Given the description of an element on the screen output the (x, y) to click on. 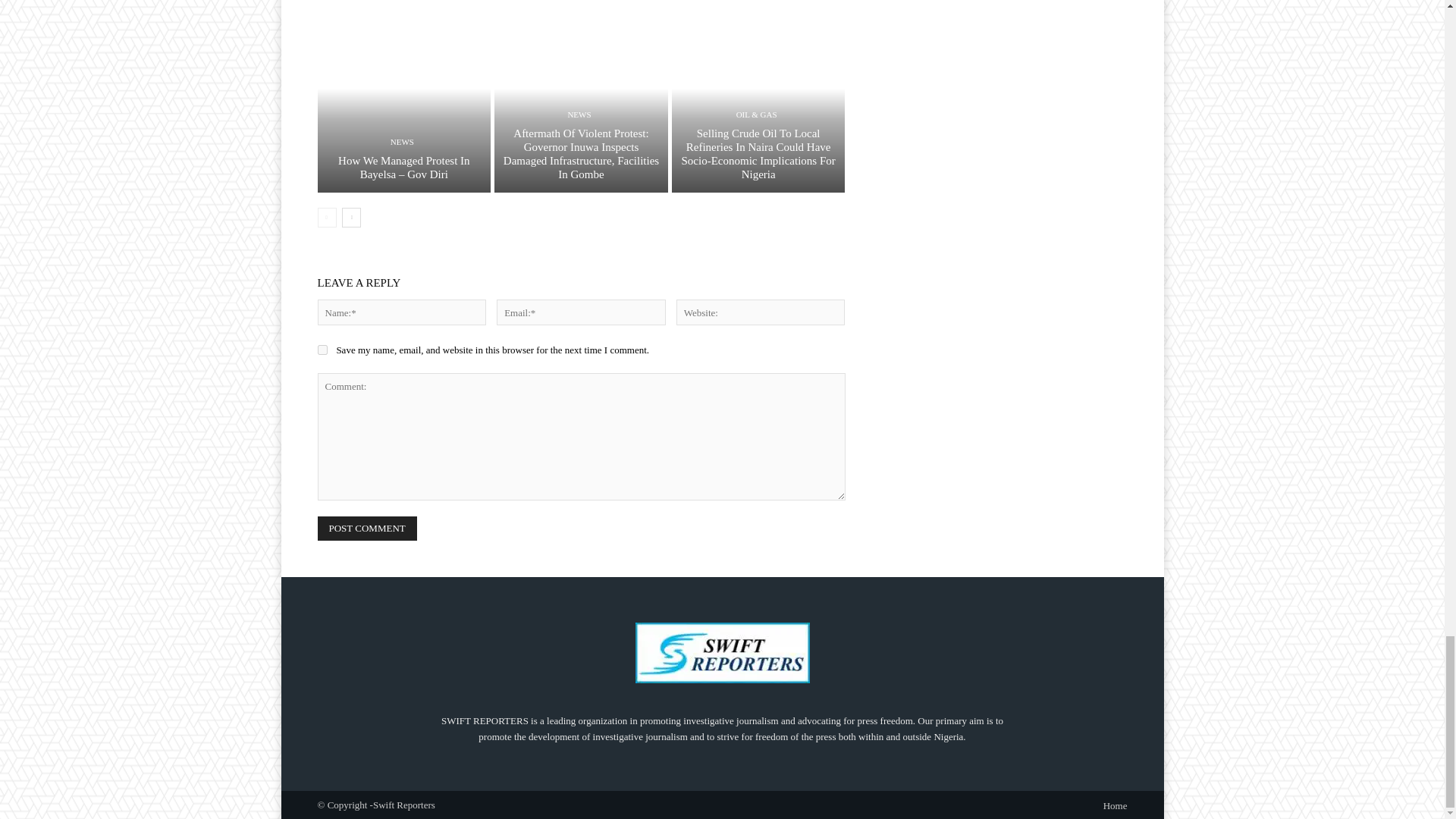
Post Comment (366, 528)
yes (321, 349)
